Given the description of an element on the screen output the (x, y) to click on. 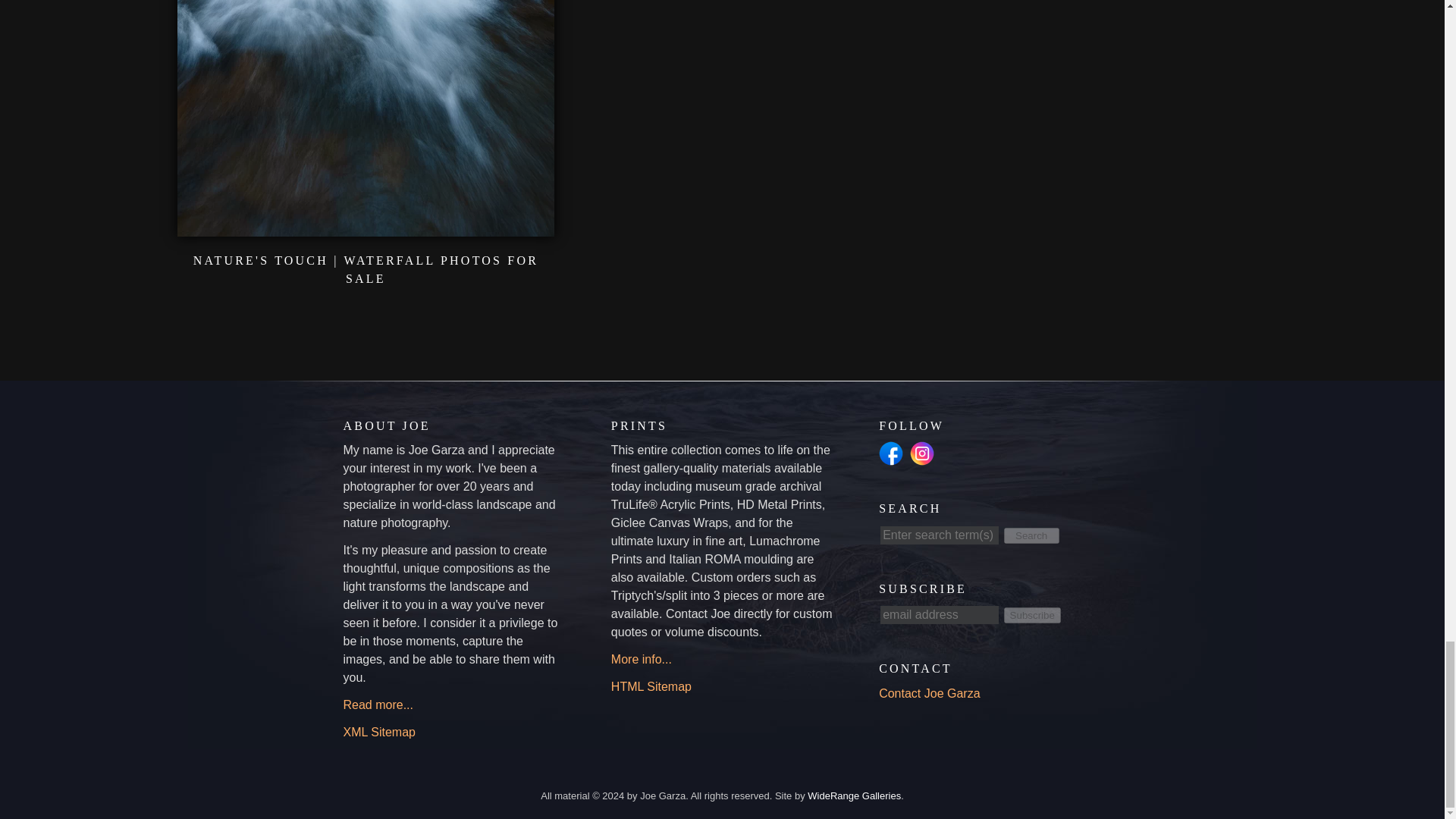
More info... (641, 658)
Read more... (377, 704)
XML Sitemap (378, 731)
